Given the description of an element on the screen output the (x, y) to click on. 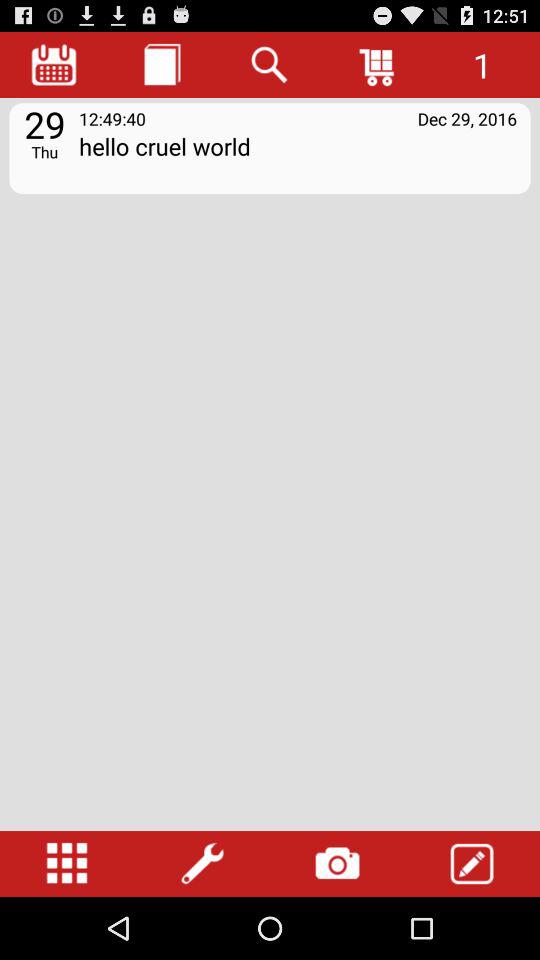
open camera (337, 863)
